Given the description of an element on the screen output the (x, y) to click on. 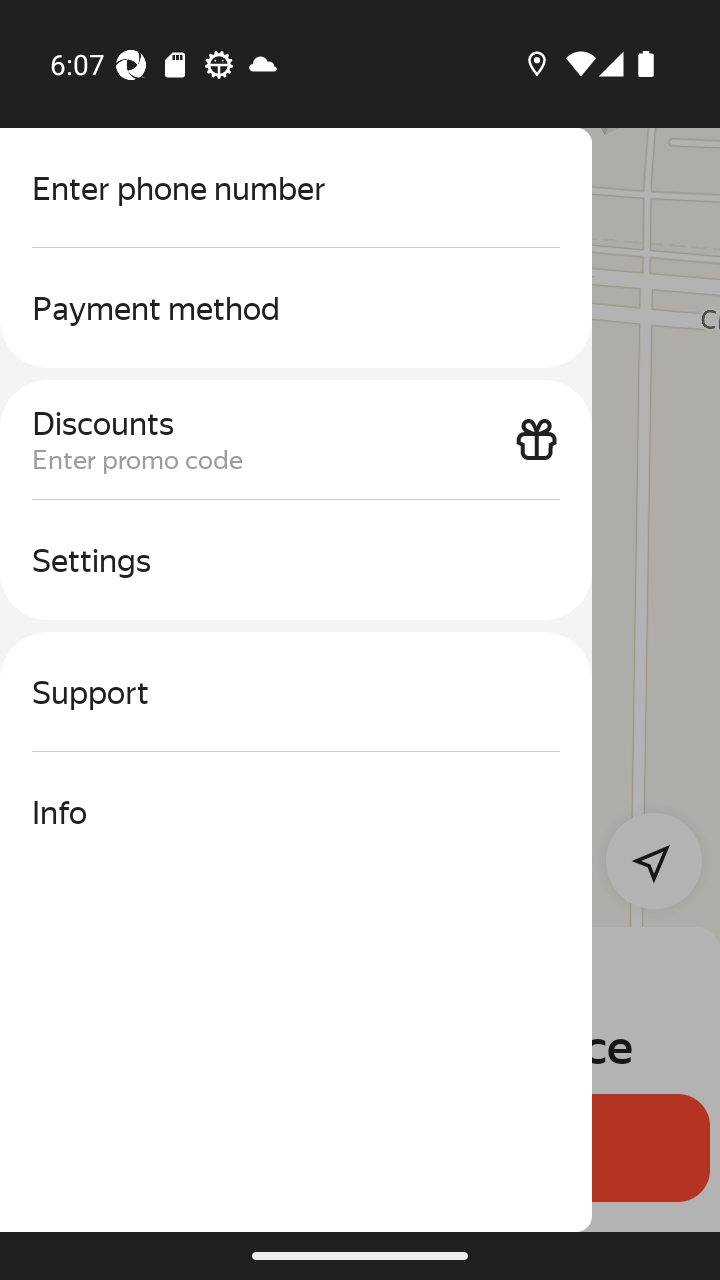
Enter phone number (295, 188)
Payment method (295, 308)
Settings (295, 559)
Support (295, 692)
Info (295, 811)
